Given the description of an element on the screen output the (x, y) to click on. 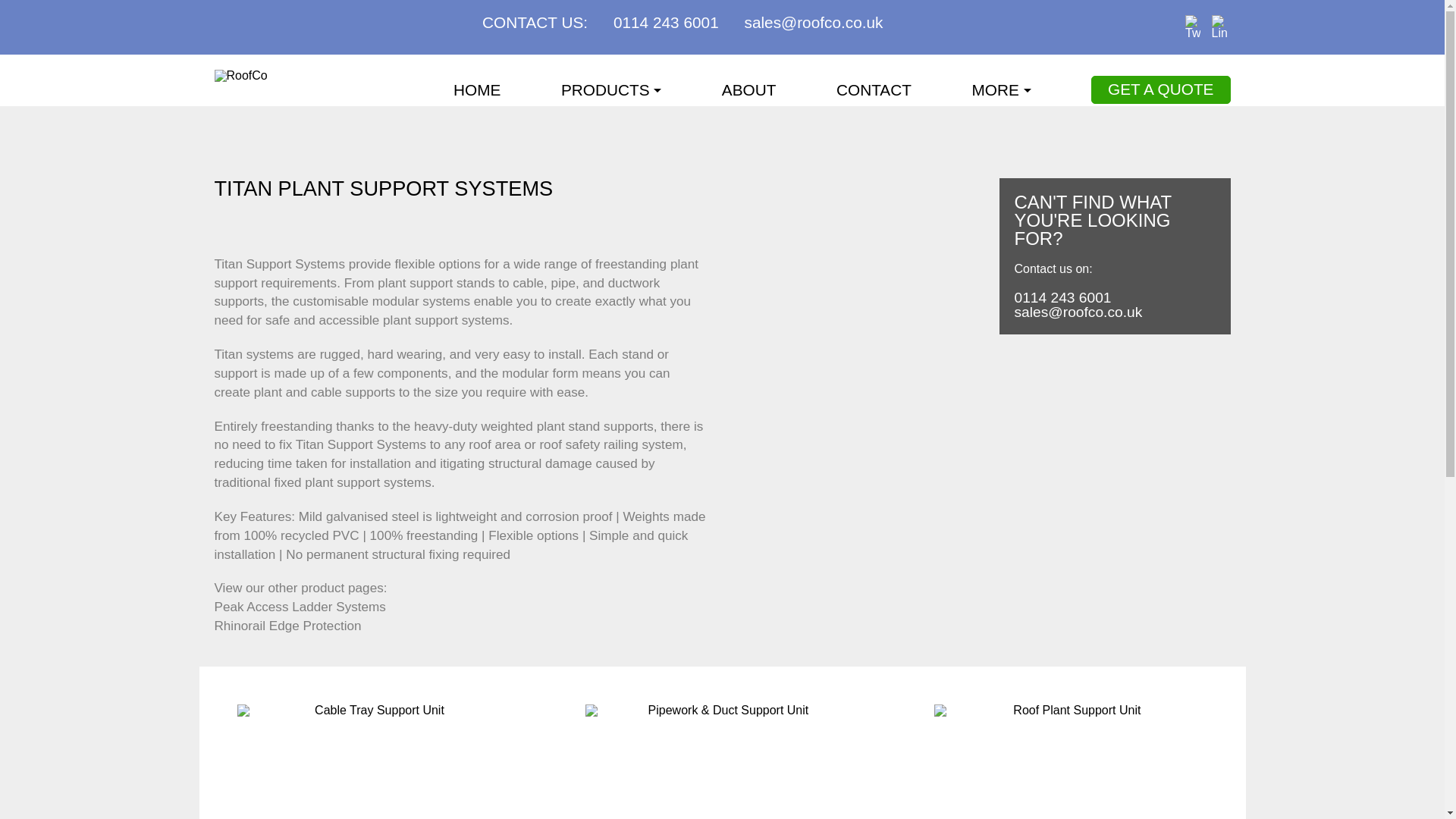
GET A QUOTE (1160, 90)
0114 243 6001 (665, 23)
MORE (1000, 88)
Peak Access Ladder Systems (299, 606)
PRODUCTS (610, 88)
ABOUT (749, 88)
Rhinorail Edge Protection (287, 626)
HOME (476, 88)
CONTACT (873, 88)
0114 243 6001 (1114, 297)
